Given the description of an element on the screen output the (x, y) to click on. 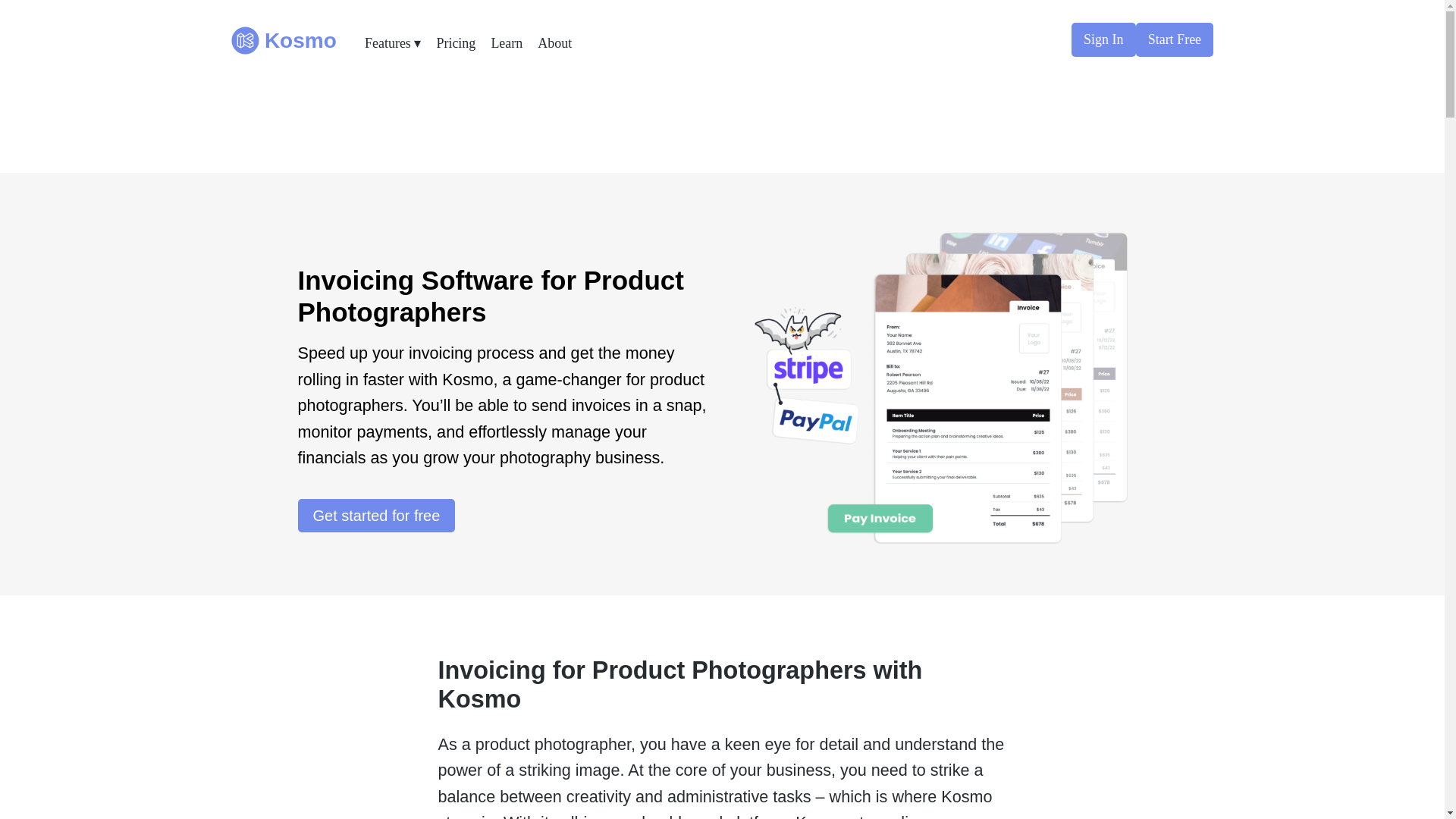
Get started for free (375, 515)
Start Free (1174, 38)
Pricing (455, 43)
Learn (506, 43)
Sign In (1103, 38)
About (554, 43)
